Given the description of an element on the screen output the (x, y) to click on. 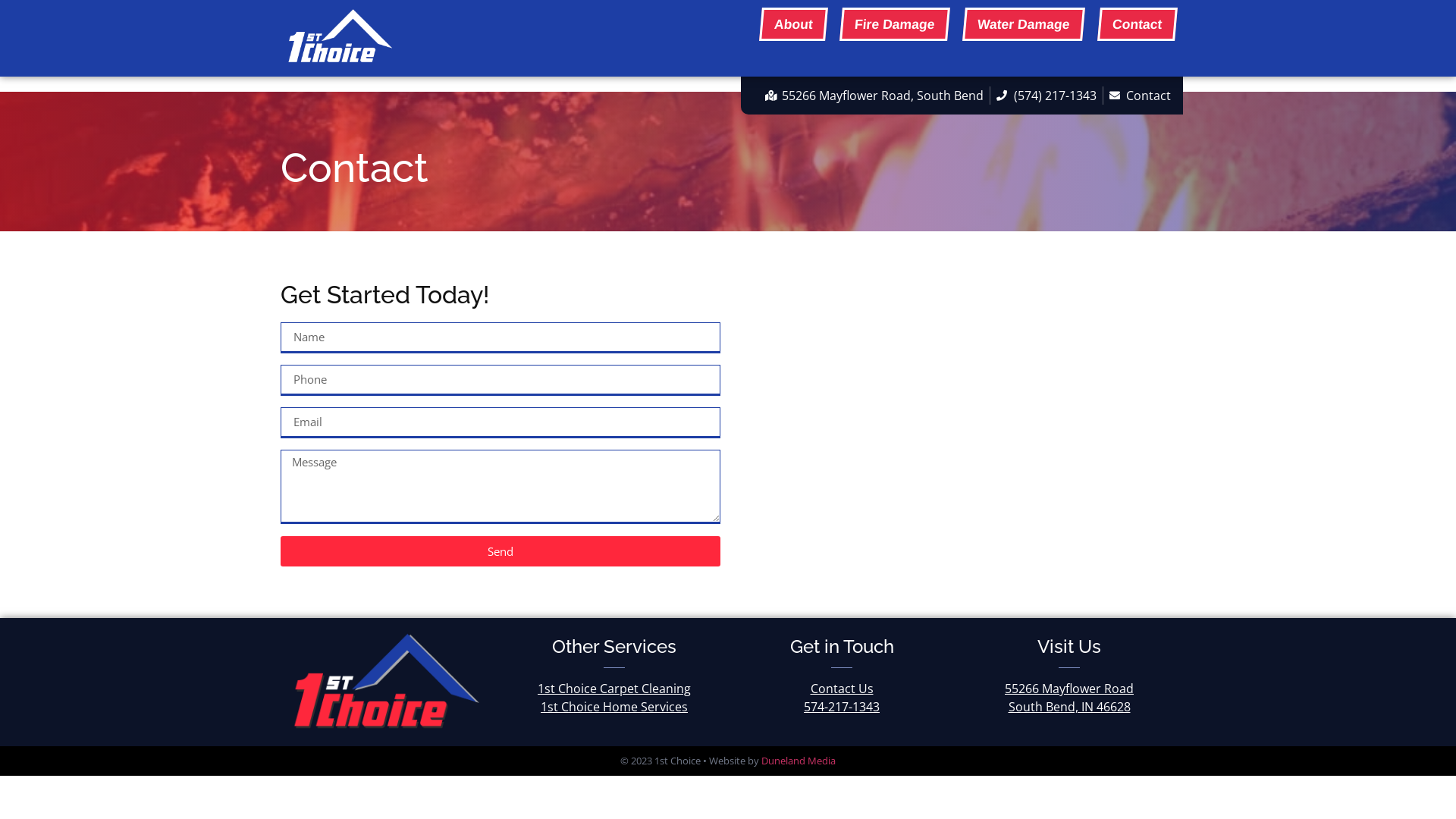
1st Choice Fire & Water Restoration, South Bend, IN Element type: hover (955, 422)
1st Choice Carpet Cleaning Element type: text (613, 688)
About Element type: text (792, 23)
Fire Damage Element type: text (893, 23)
Send Element type: text (500, 551)
Duneland Media Element type: text (798, 760)
574-217-1343 Element type: text (841, 706)
Water Damage Element type: text (1022, 23)
(574) 217-1343 Element type: text (1046, 95)
Contact Element type: text (1139, 95)
South Bend, IN 46628 Element type: text (1069, 706)
Contact Element type: text (1135, 23)
1st Choice Home Services Element type: text (613, 706)
Contact Us Element type: text (840, 688)
55266 Mayflower Road Element type: text (1068, 688)
